Given the description of an element on the screen output the (x, y) to click on. 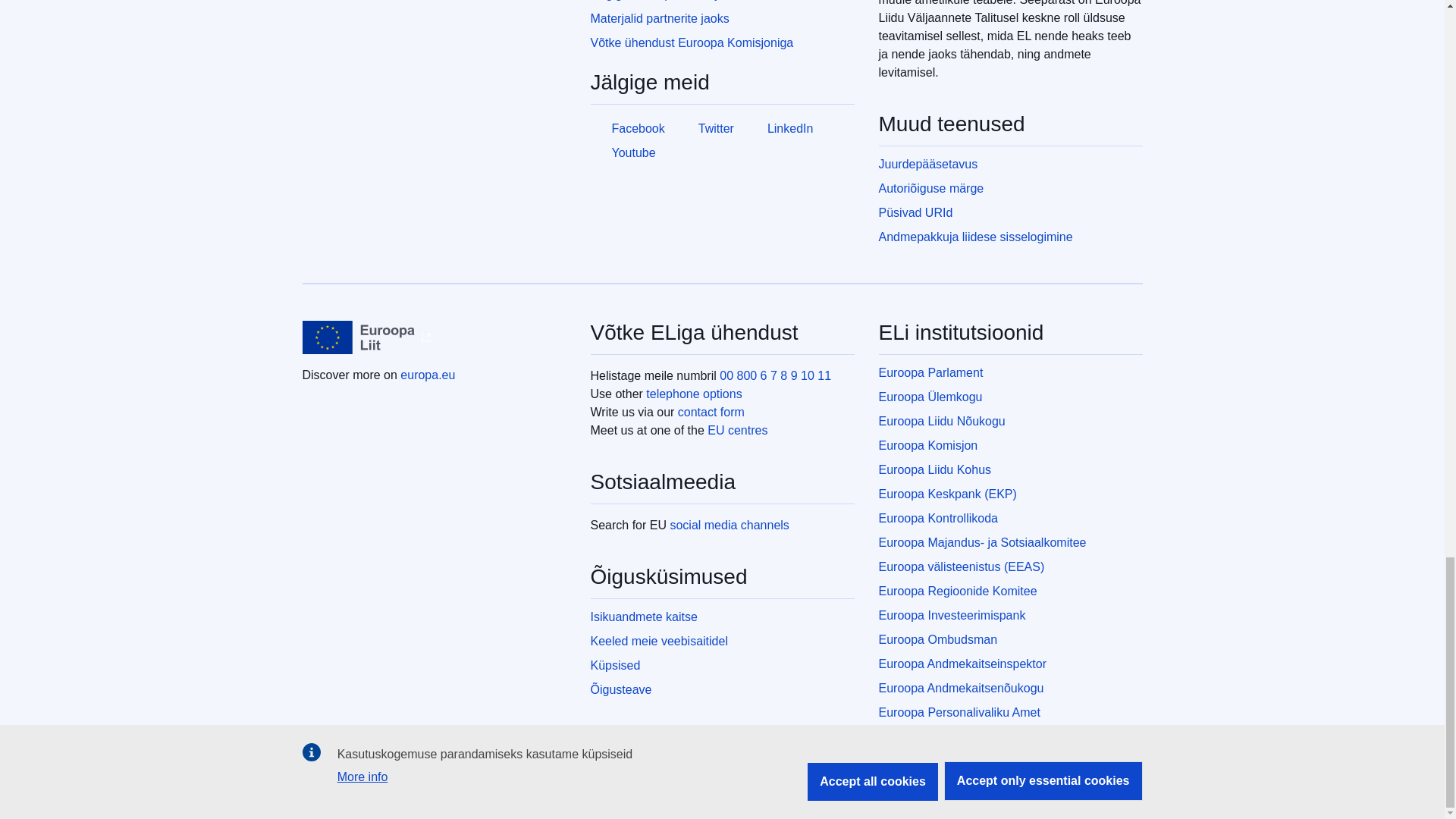
European Union (357, 337)
